Given the description of an element on the screen output the (x, y) to click on. 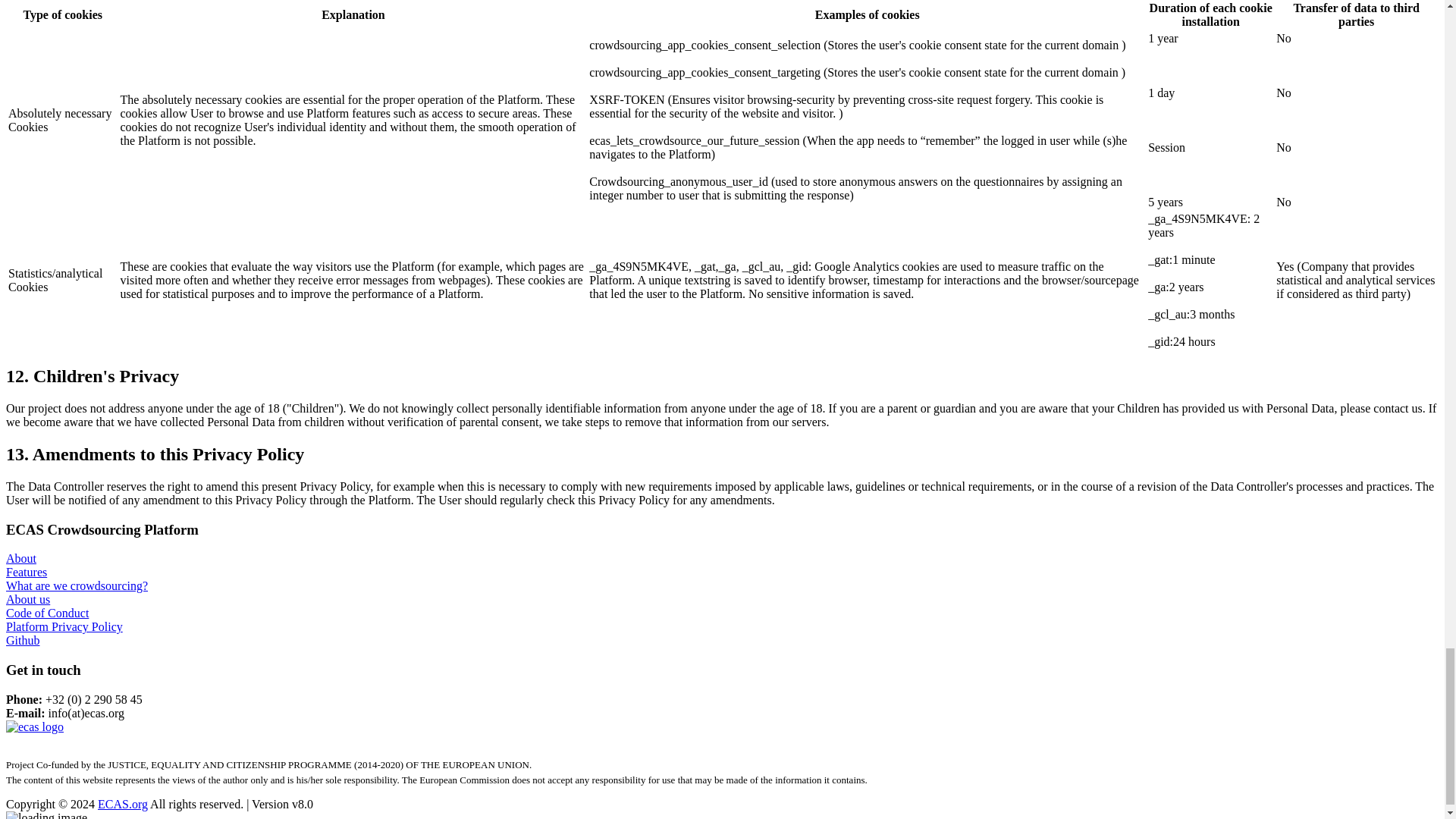
Github (22, 640)
What are we crowdsourcing? (76, 585)
About us (27, 599)
Code of Conduct (46, 612)
Features (25, 571)
Platform Privacy Policy (63, 626)
About (20, 558)
